Given the description of an element on the screen output the (x, y) to click on. 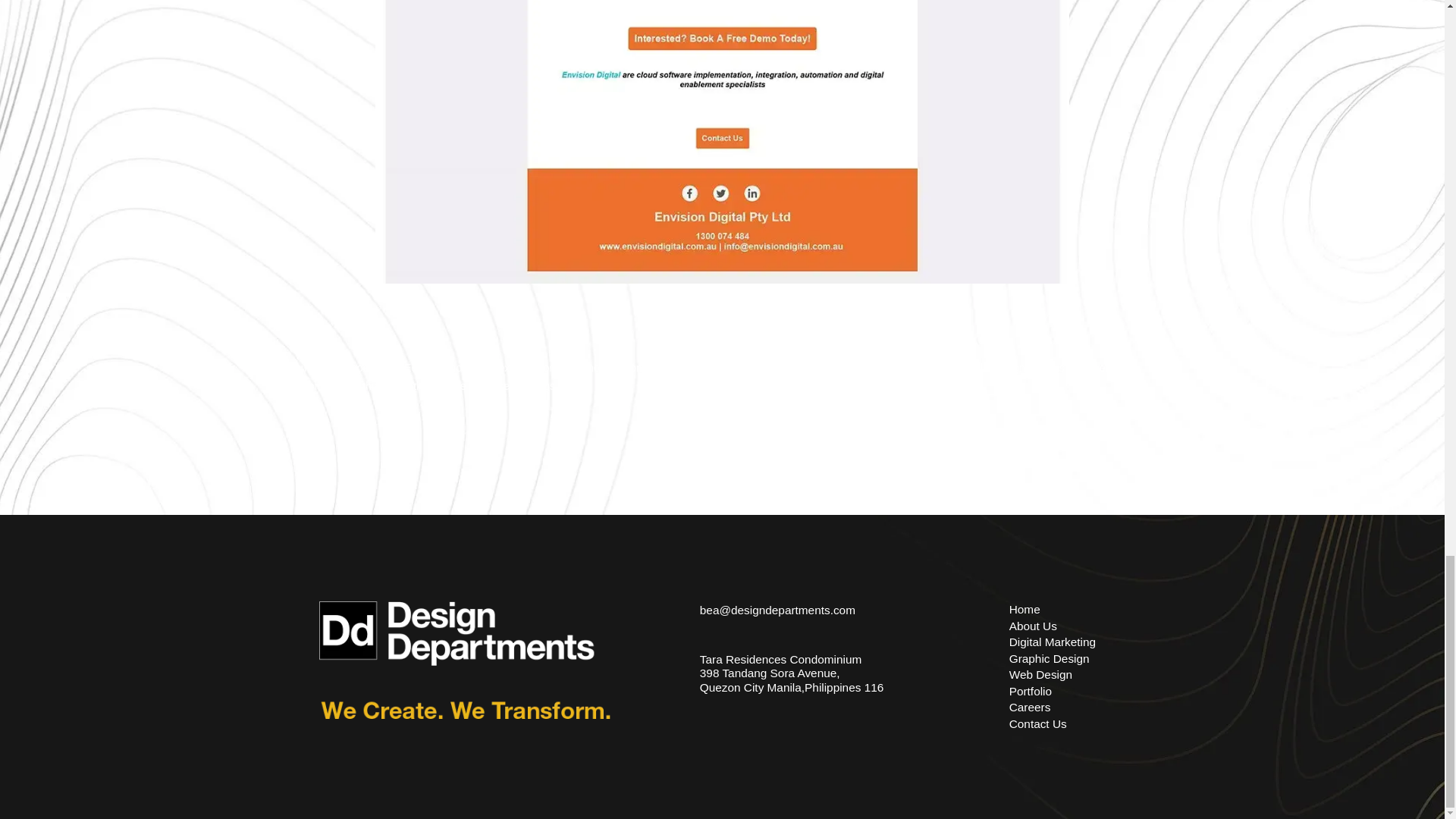
Logo We Create We Transform (464, 660)
